Given the description of an element on the screen output the (x, y) to click on. 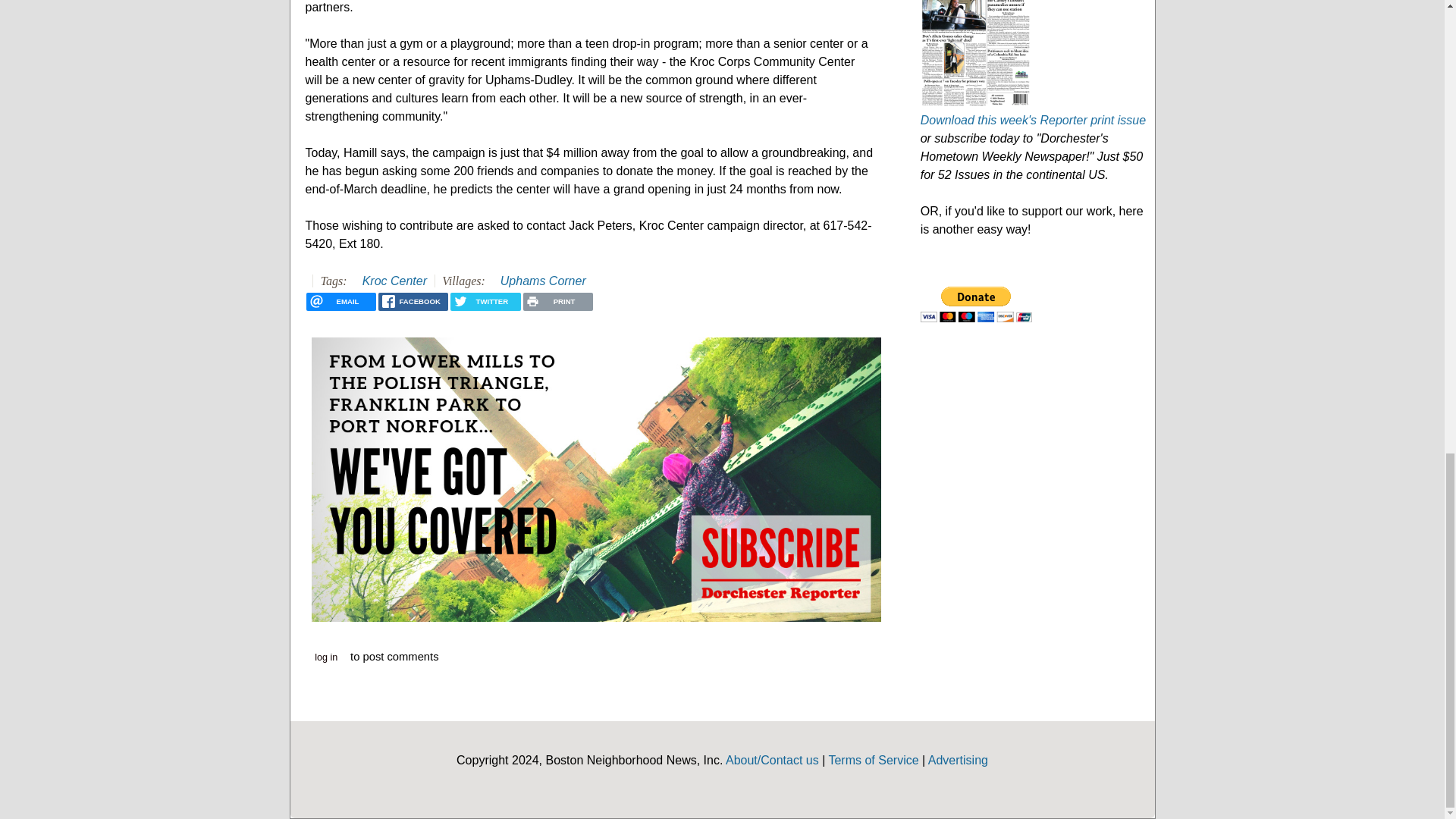
Advertising (958, 759)
PayPal - The safer, easier way to pay online! (976, 304)
FACEBOOK (413, 301)
TWITTER (484, 301)
EMAIL (340, 301)
Terms of Service (873, 759)
PRINT (557, 301)
Download this week's Reporter print issue (1032, 119)
Uphams Corner (543, 280)
log in (325, 657)
